Given the description of an element on the screen output the (x, y) to click on. 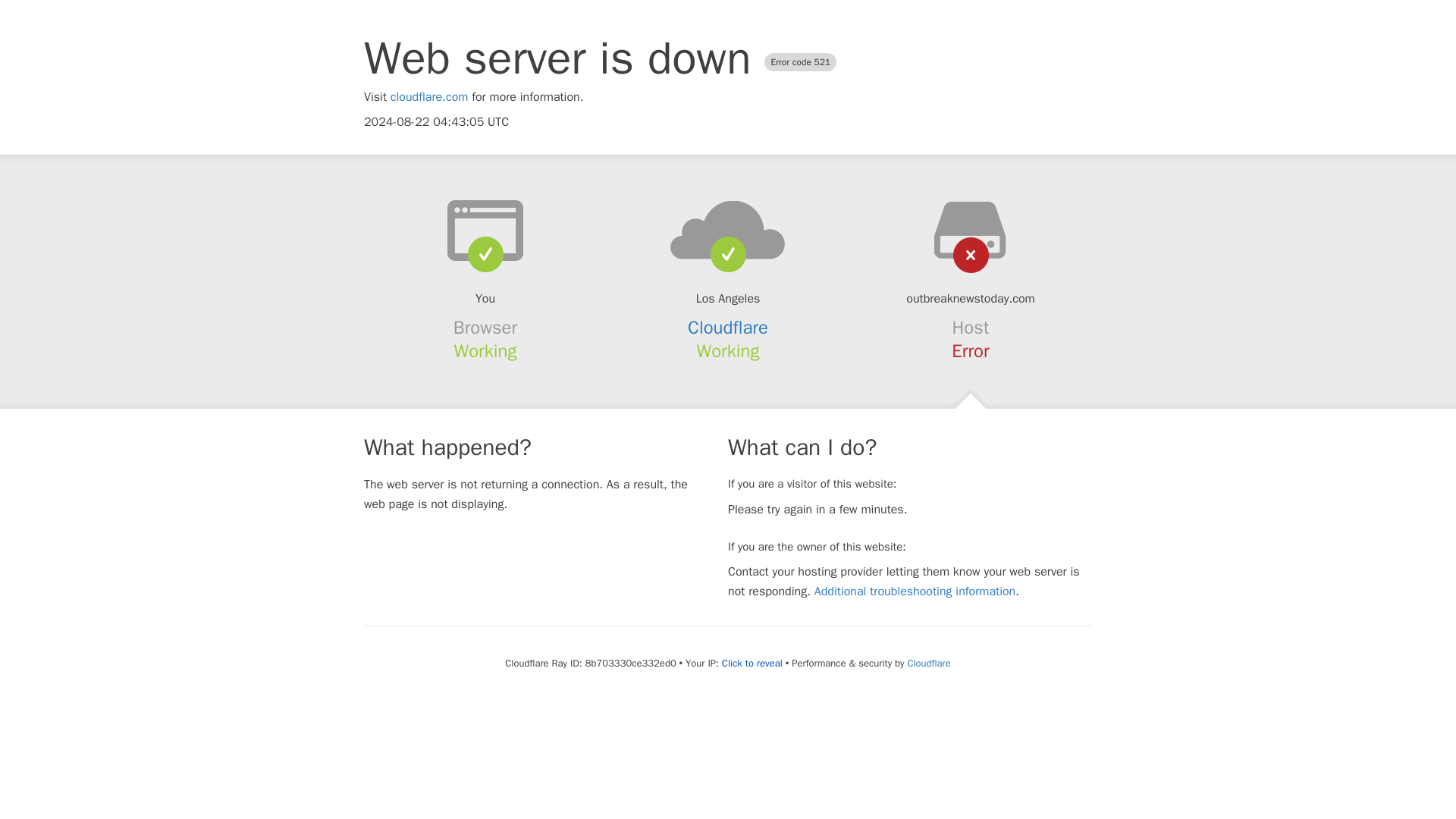
cloudflare.com (429, 96)
Additional troubleshooting information (913, 590)
Click to reveal (752, 663)
Cloudflare (727, 327)
Cloudflare (928, 662)
